Given the description of an element on the screen output the (x, y) to click on. 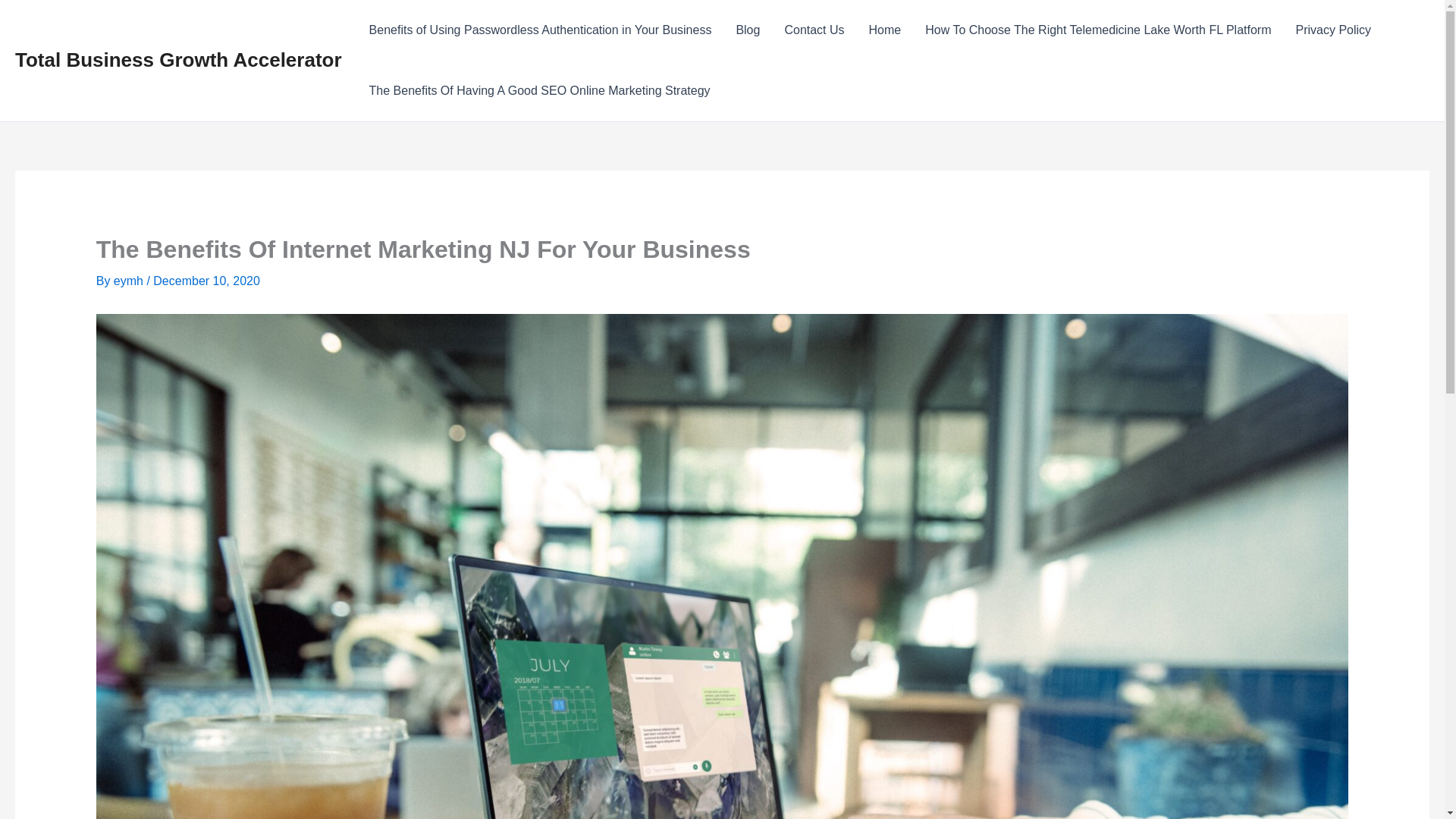
How To Choose The Right Telemedicine Lake Worth FL Platform (1097, 30)
Privacy Policy (1332, 30)
Contact Us (813, 30)
Home (885, 30)
The Benefits Of Having A Good SEO Online Marketing Strategy (539, 90)
View all posts by eymh (130, 280)
Total Business Growth Accelerator (178, 59)
eymh (130, 280)
